Given the description of an element on the screen output the (x, y) to click on. 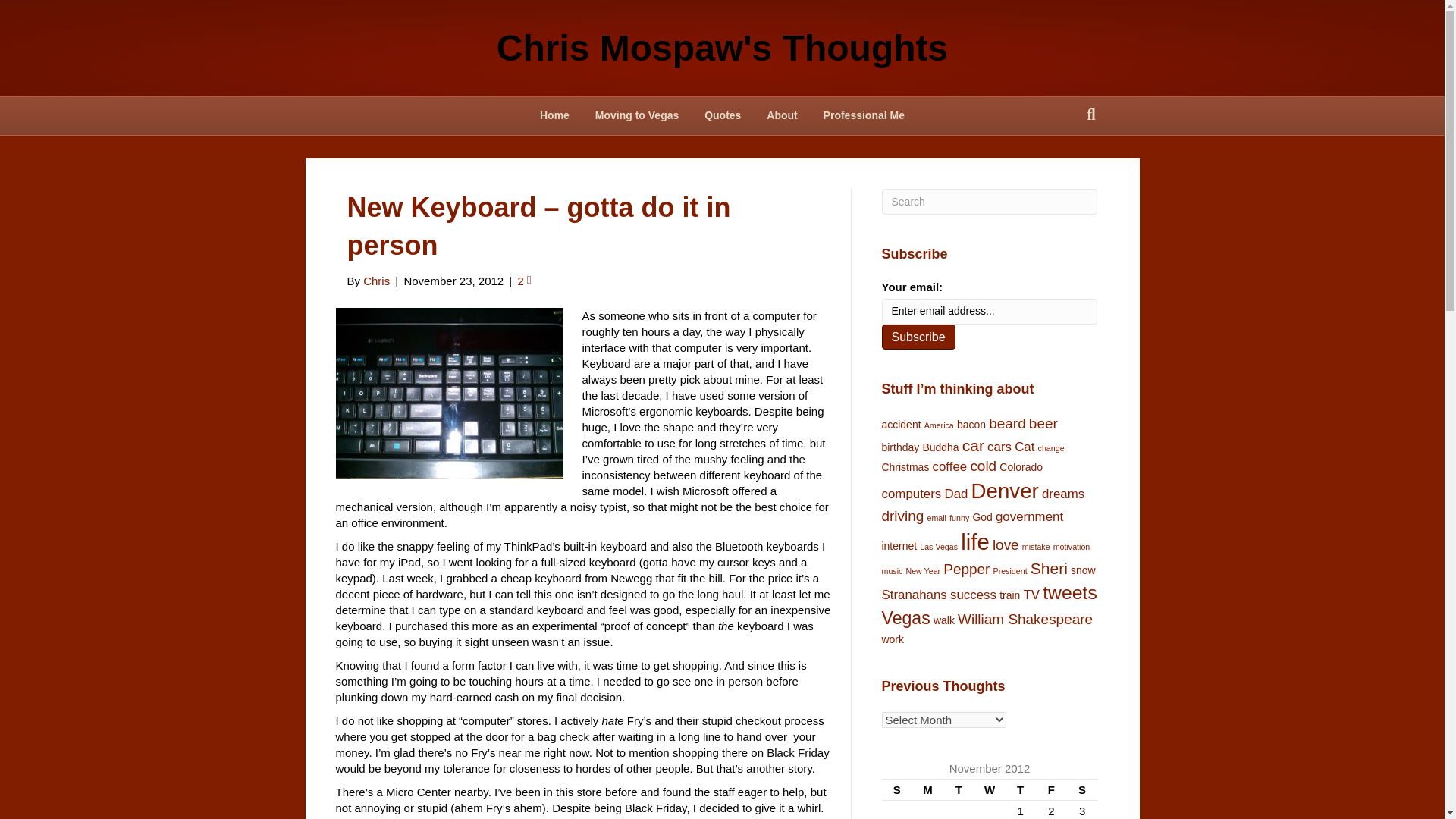
Subscribe (917, 336)
Thursday (1019, 789)
Type and press Enter to search. (988, 201)
Tuesday (958, 789)
Friday (1051, 789)
Monday (927, 789)
America (938, 424)
About (781, 116)
Subscribe (917, 336)
Sunday (896, 789)
Home (554, 116)
Chris (376, 280)
Wednesday (990, 789)
Quotes (722, 116)
2 (523, 280)
